Given the description of an element on the screen output the (x, y) to click on. 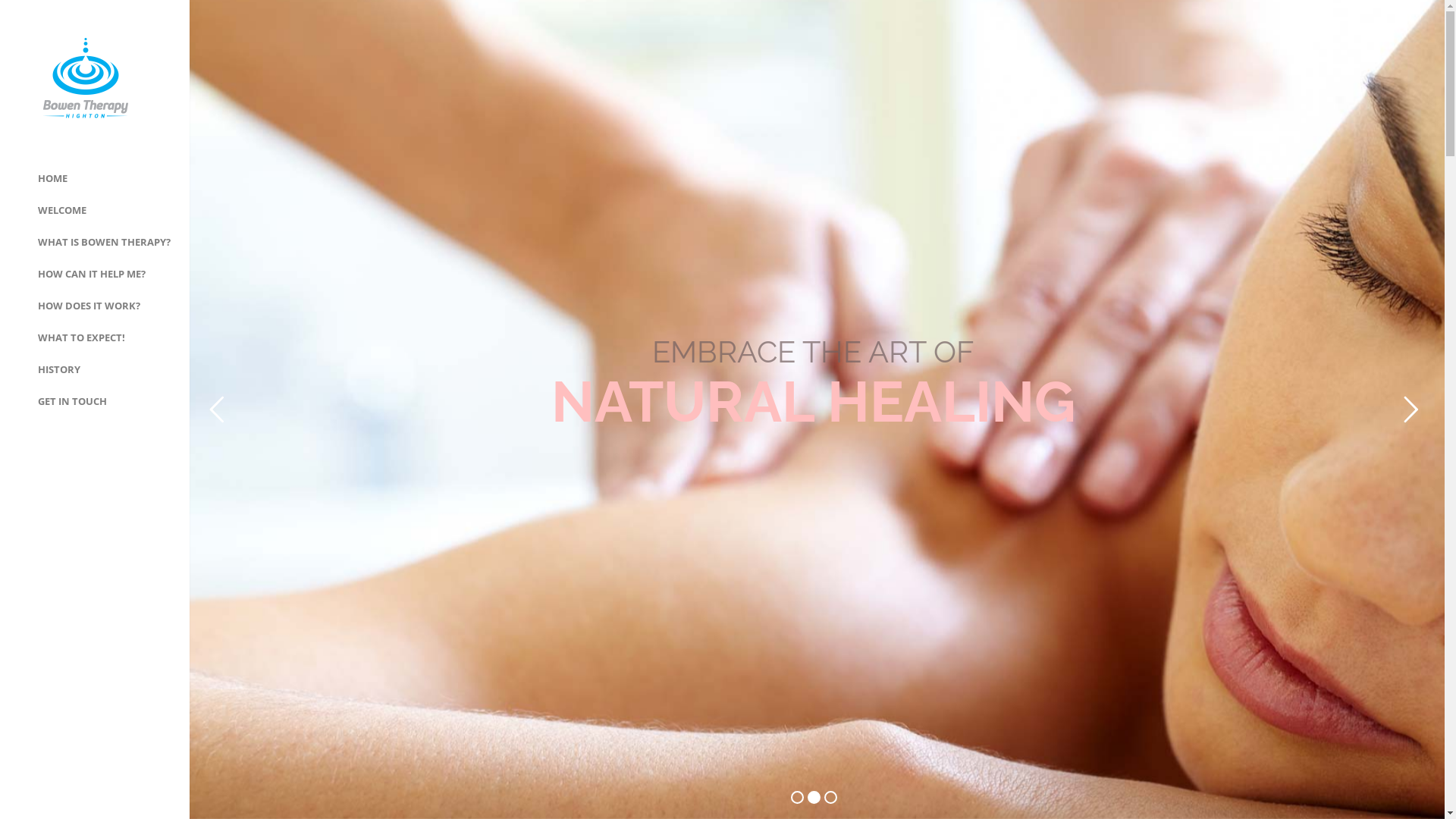
WHAT TO EXPECT! Element type: text (81, 337)
HOW DOES IT WORK? Element type: text (89, 305)
HISTORY Element type: text (59, 369)
WELCOME Element type: text (62, 209)
HOME Element type: text (52, 178)
HOW CAN IT HELP ME? Element type: text (91, 273)
WHAT IS BOWEN THERAPY? Element type: text (104, 241)
GET IN TOUCH Element type: text (72, 401)
